Given the description of an element on the screen output the (x, y) to click on. 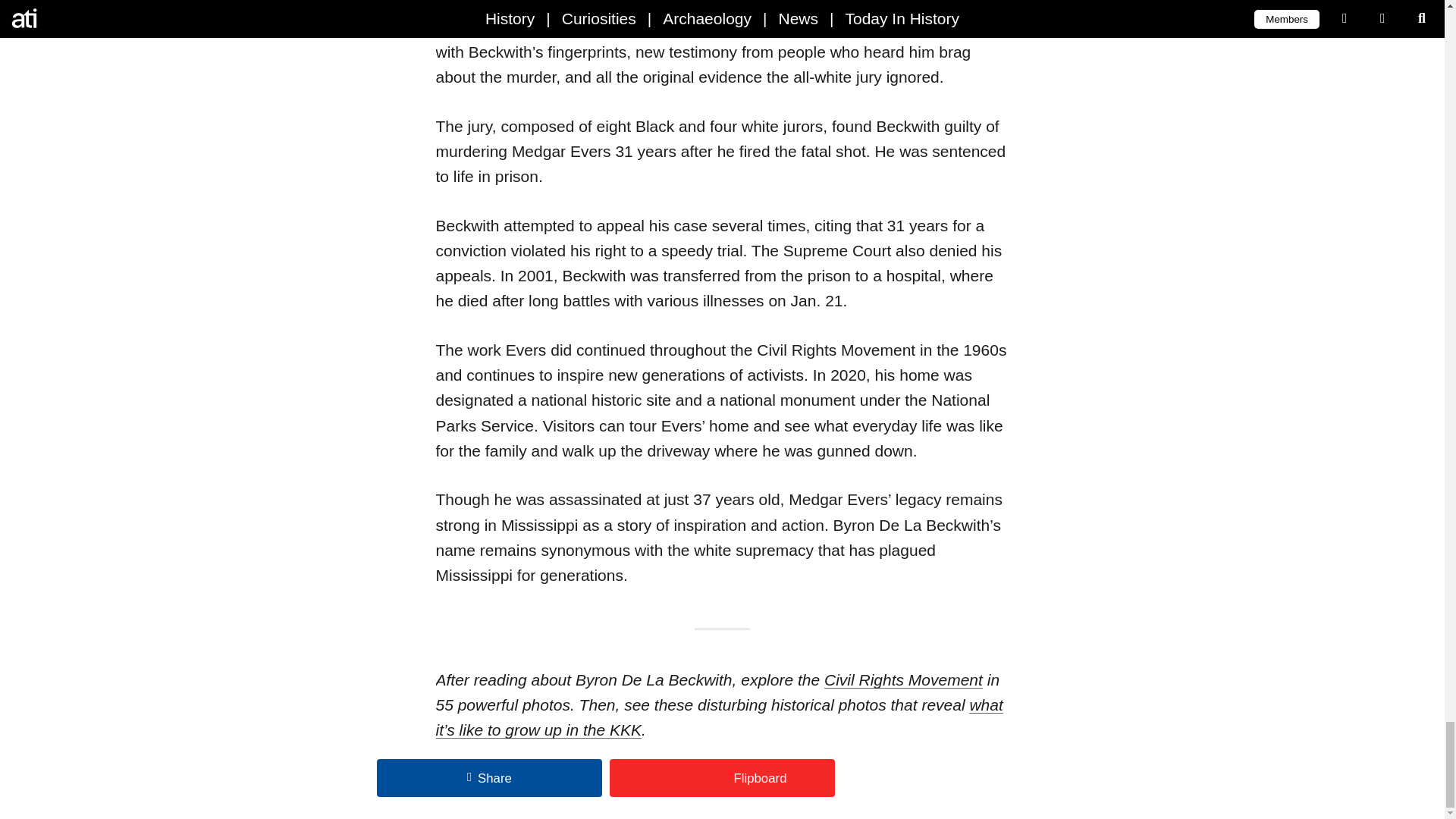
Flipboard (722, 777)
Share (489, 777)
Civil Rights Movement (903, 679)
